Given the description of an element on the screen output the (x, y) to click on. 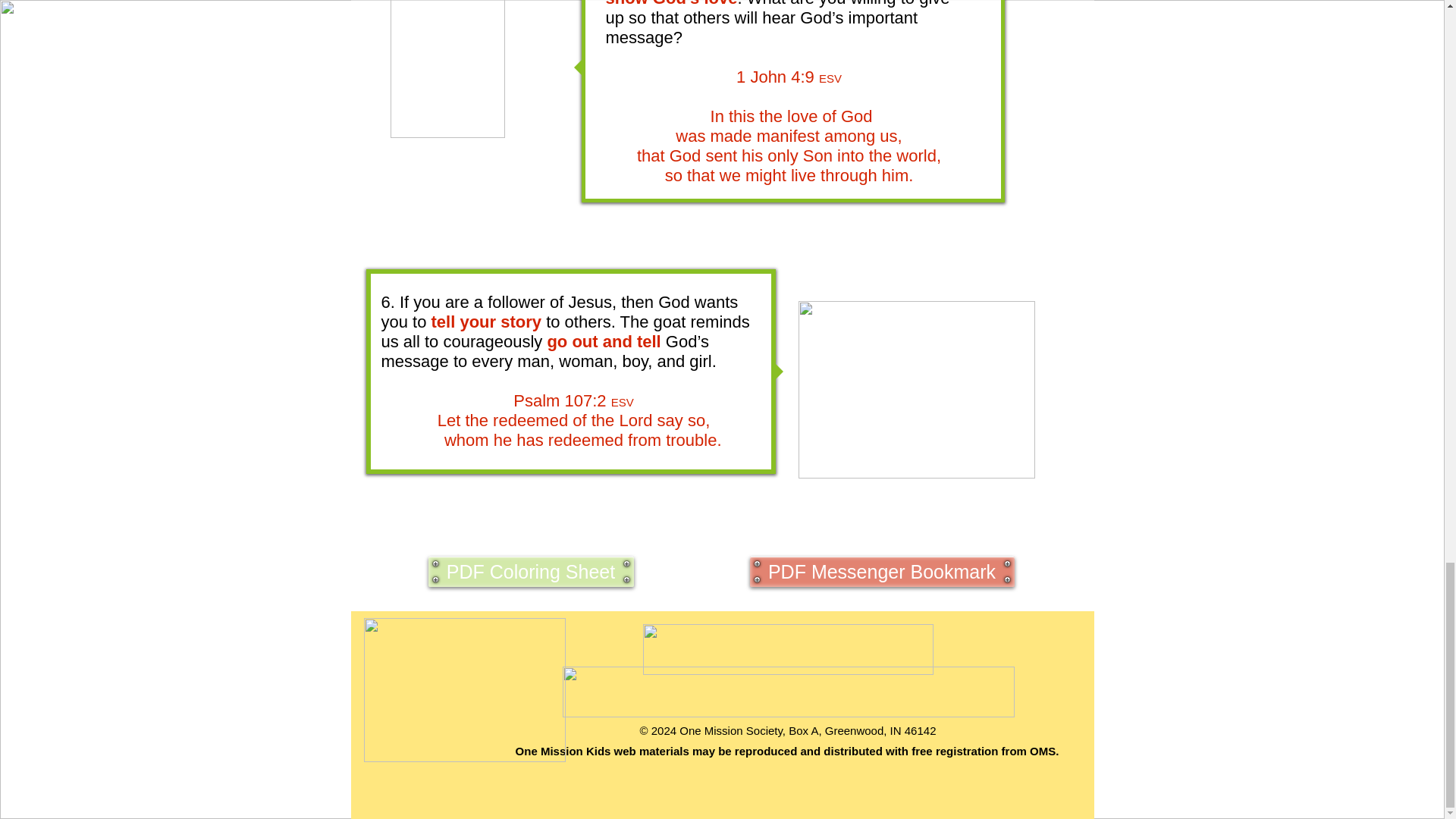
max cast updated logo cropped.png (465, 690)
omk tagine new font 2023.png (788, 691)
PDF Messenger Bookmark (881, 571)
with free registration from OMS. (971, 750)
PDF Coloring Sheet (530, 571)
